Given the description of an element on the screen output the (x, y) to click on. 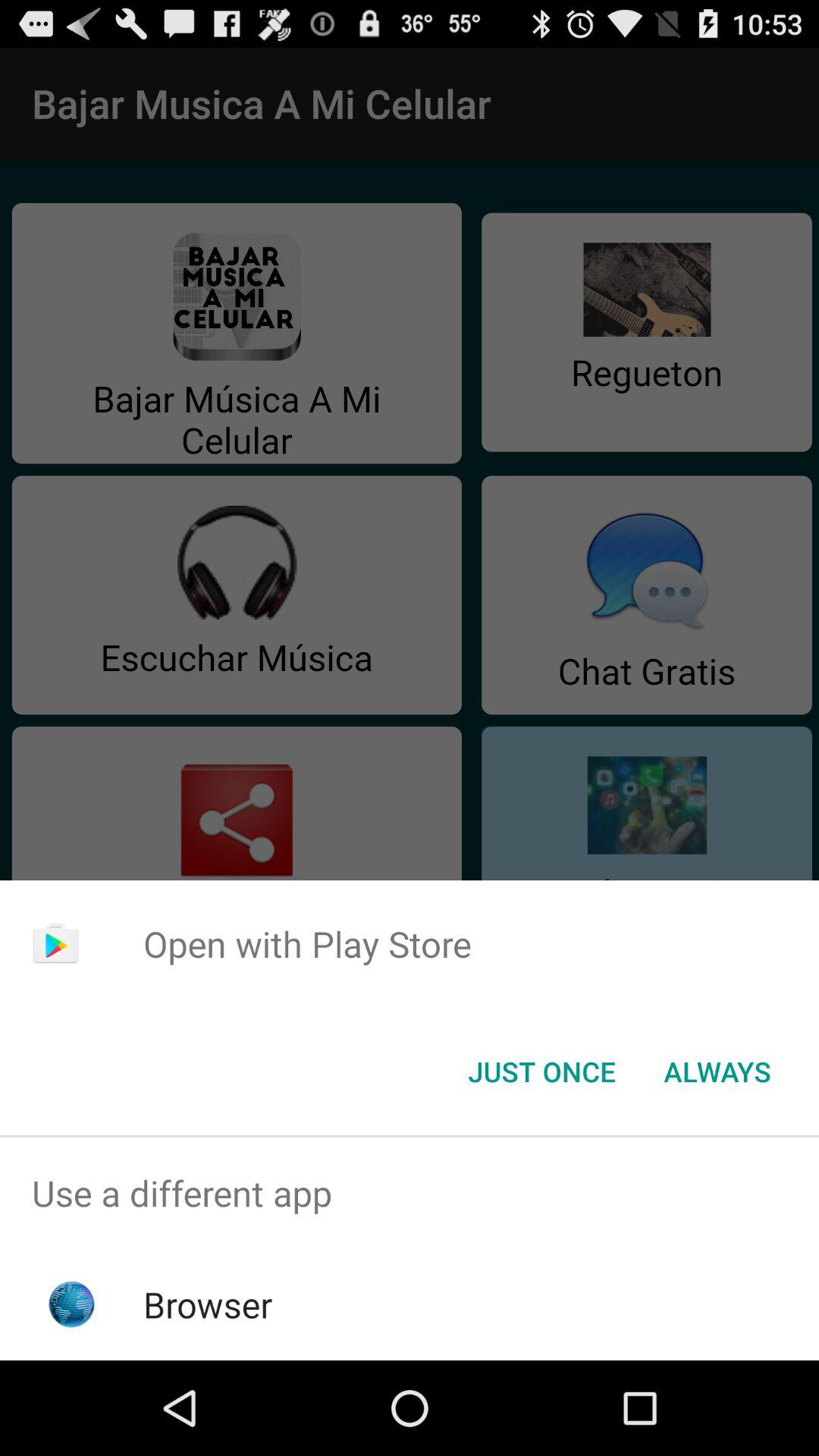
click button to the right of the just once button (717, 1071)
